Given the description of an element on the screen output the (x, y) to click on. 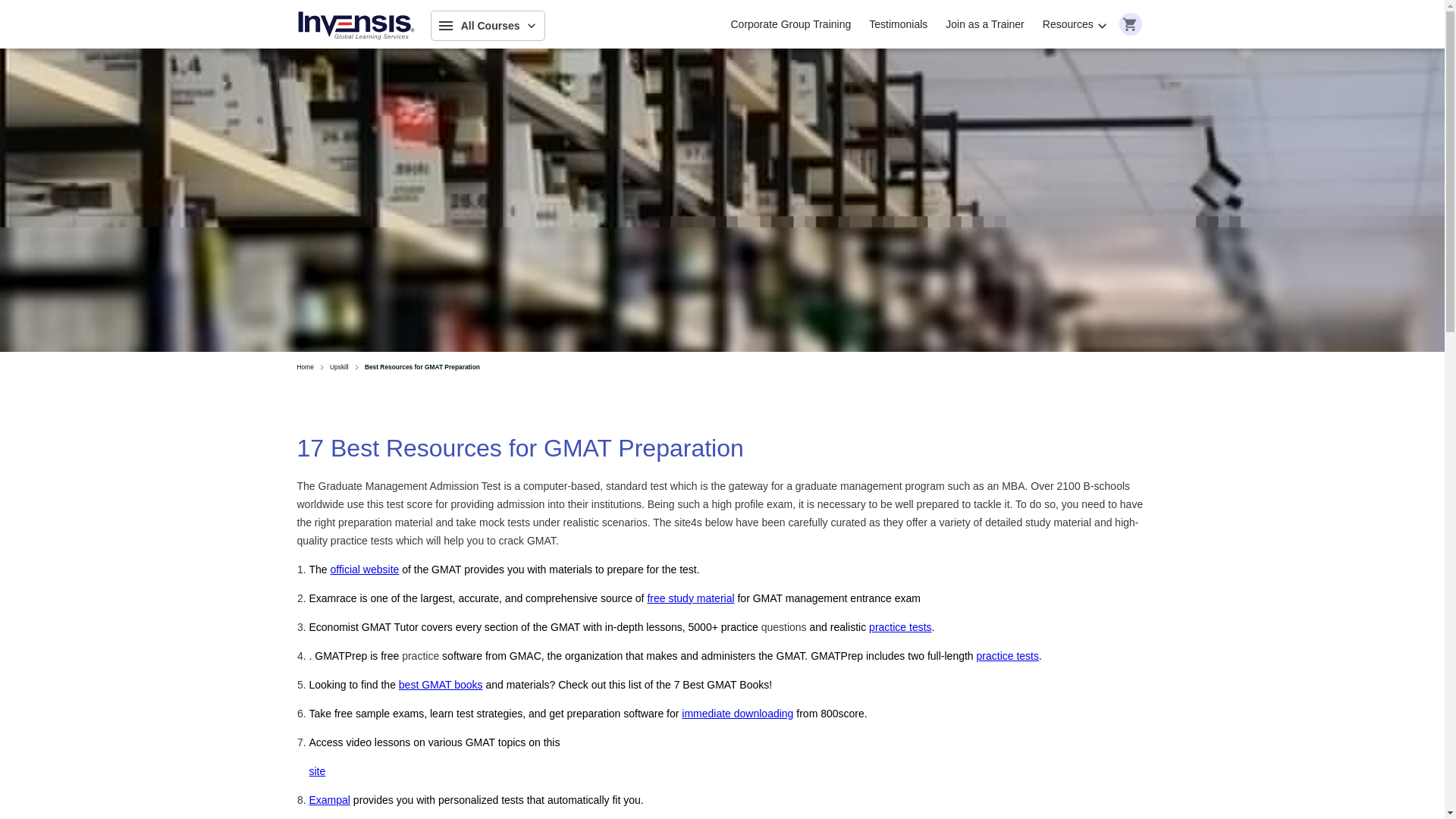
Click here to Check the Order Summary (1130, 24)
Upskill (339, 367)
All Courses (487, 25)
Invensis Learning (355, 25)
practice tests (1007, 654)
Click Here to View All Certification and Training Programs (487, 25)
best GMAT books (440, 684)
Click Here to View Our Customer Testimonials (898, 23)
official website (364, 568)
Home (305, 367)
